Given the description of an element on the screen output the (x, y) to click on. 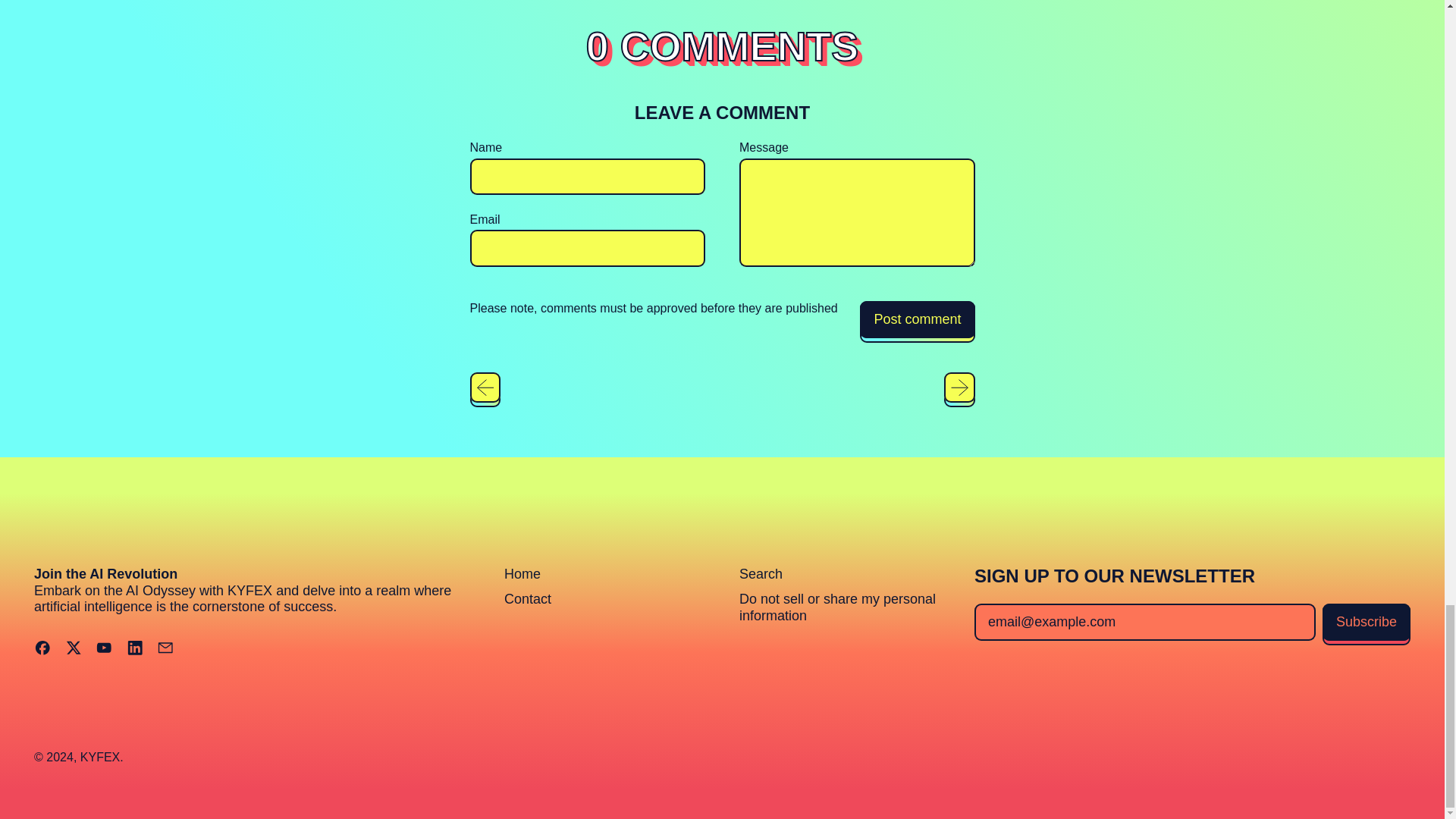
Post comment (917, 319)
